Given the description of an element on the screen output the (x, y) to click on. 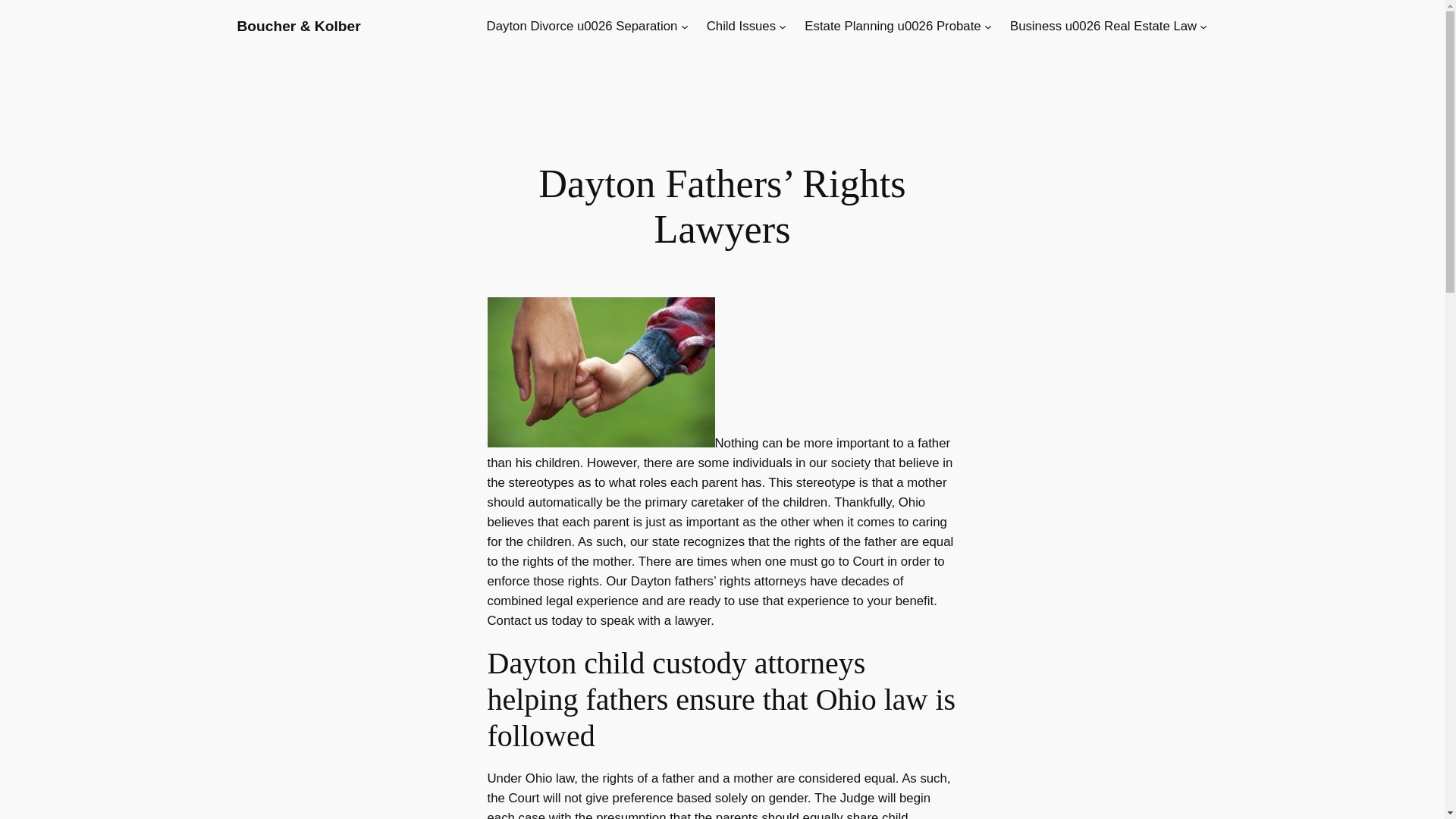
Business u0026 Real Estate Law (1103, 26)
Child Issues (741, 26)
Dayton Divorce u0026 Separation (582, 26)
Estate Planning u0026 Probate (892, 26)
